Given the description of an element on the screen output the (x, y) to click on. 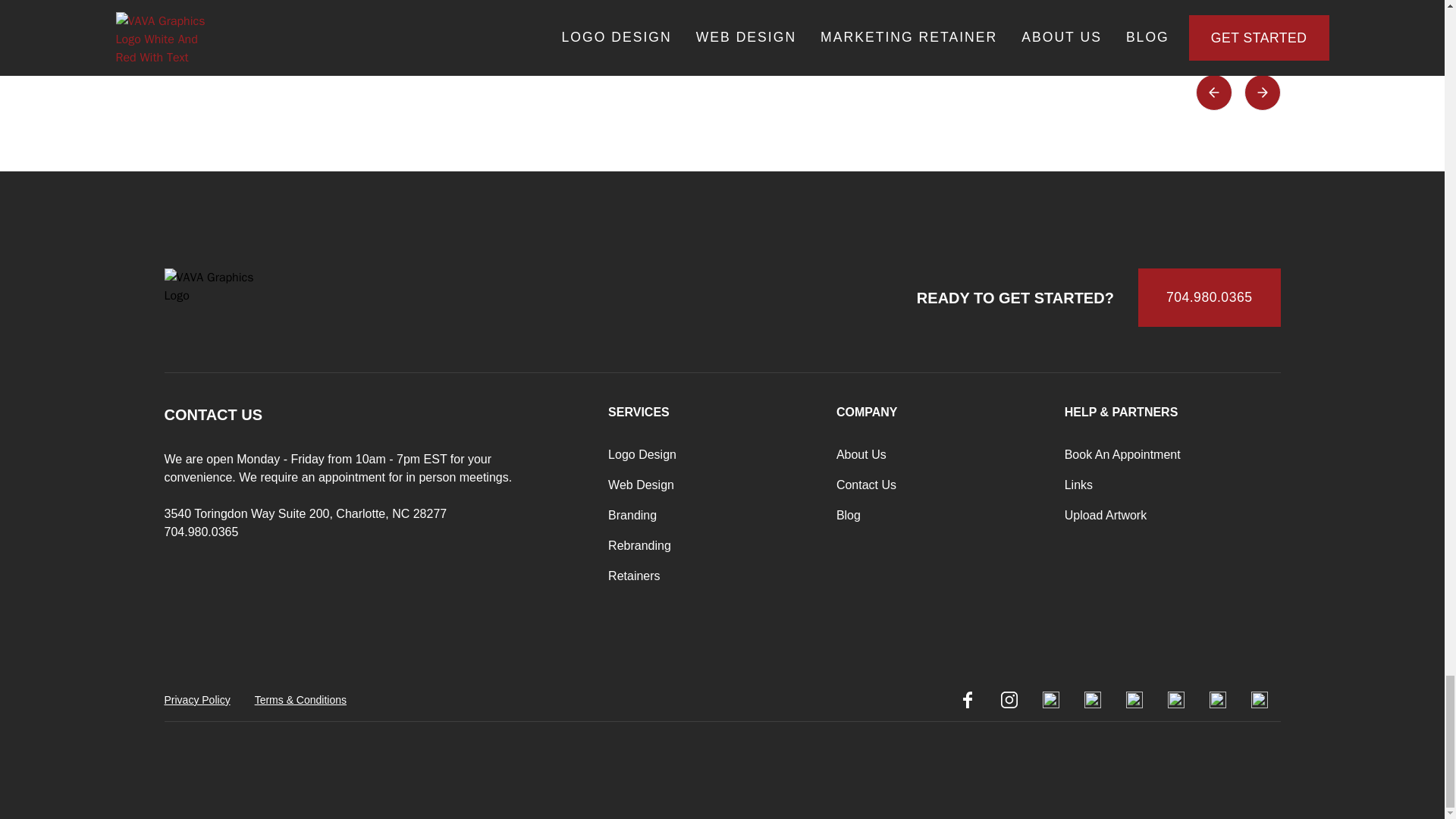
READ ARTICLE (980, 12)
READ ARTICLE (1352, 21)
READ ARTICLE (235, 21)
READ ARTICLE (608, 12)
